Given the description of an element on the screen output the (x, y) to click on. 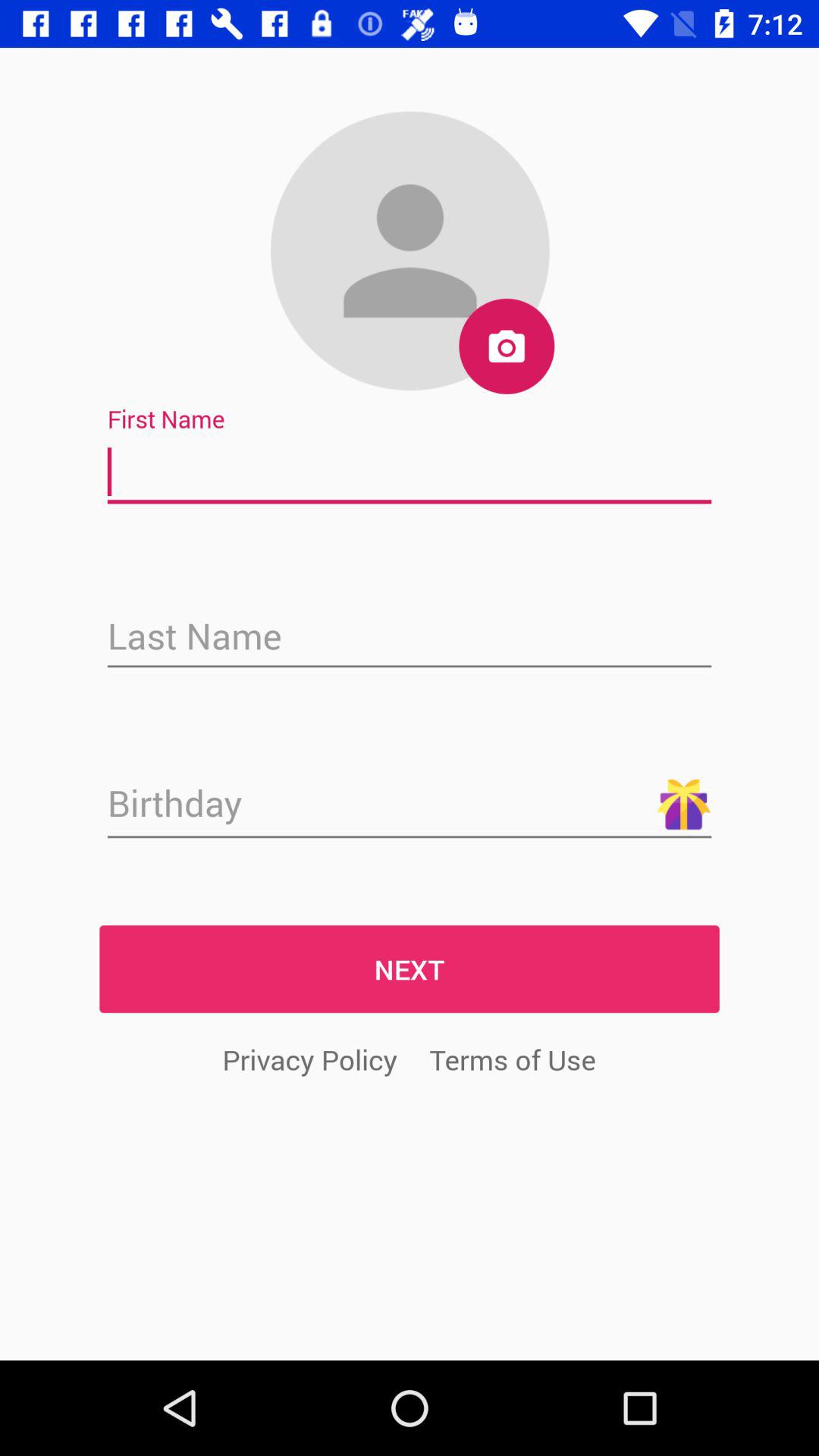
write a word (409, 472)
